Given the description of an element on the screen output the (x, y) to click on. 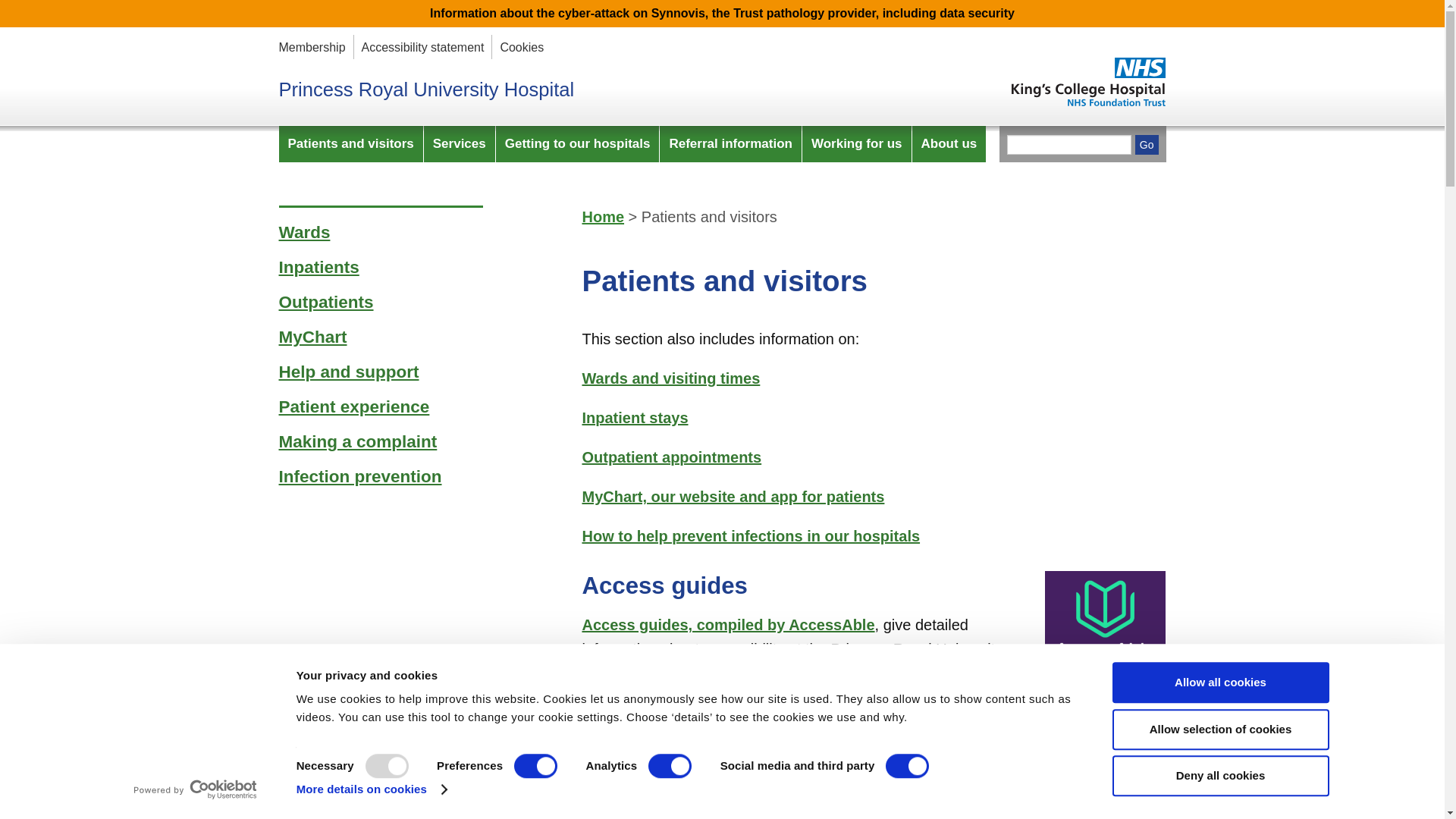
Princess Royal University Hospital (427, 88)
Wards (670, 378)
Inpatients (633, 417)
Membership (312, 47)
Patients and visitors (351, 144)
Allow all cookies (1219, 681)
Services (459, 144)
Cookies (521, 47)
Allow selection of cookies (1219, 729)
More details on cookies (371, 789)
Outpatients (670, 457)
Deny all cookies (1219, 775)
Go (1146, 144)
Accessibility statement (422, 47)
